Given the description of an element on the screen output the (x, y) to click on. 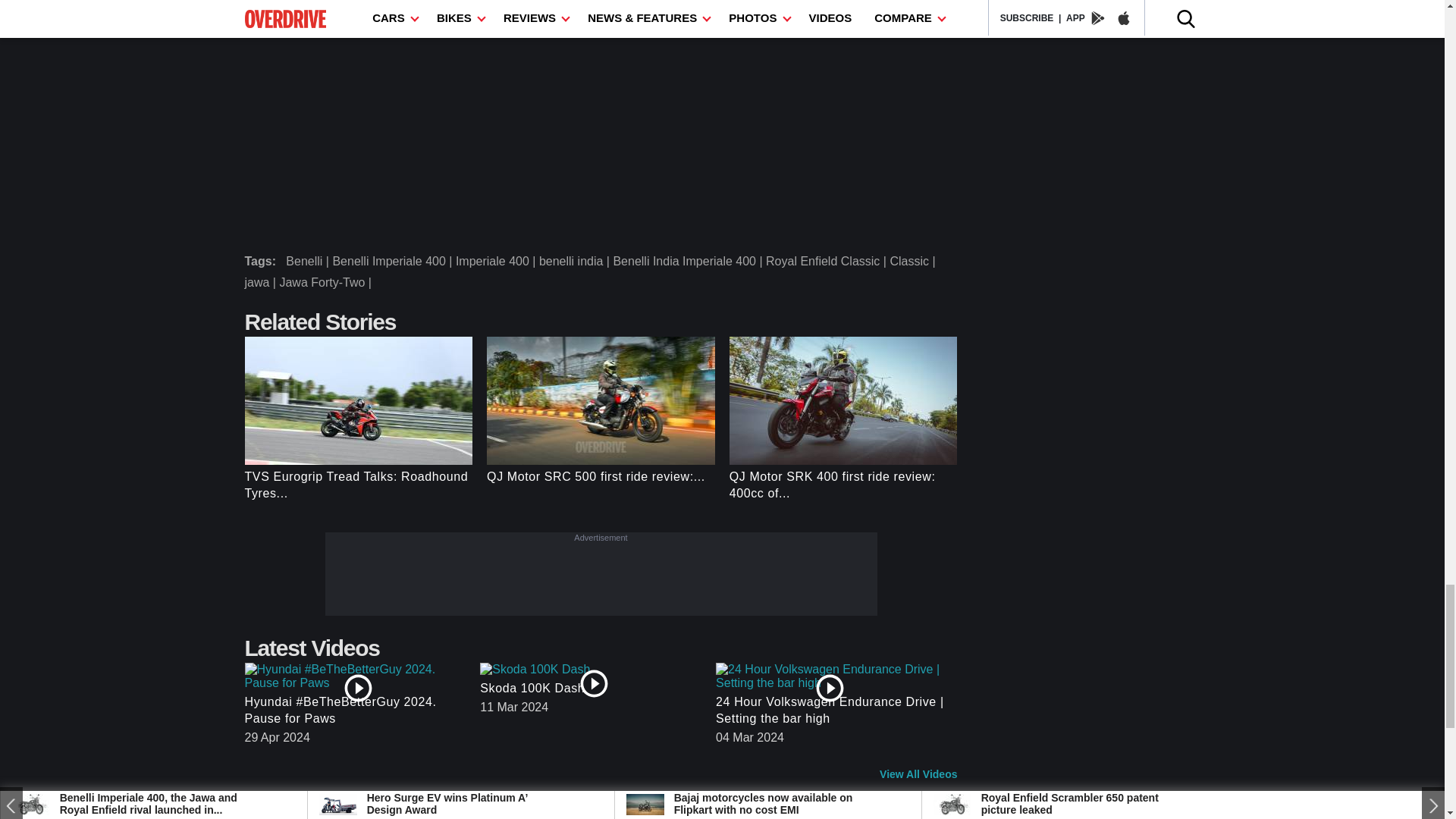
Royal Enfield Classic (827, 260)
TVS Eurogrip Tread Talks: Roadhound Tyres Track Test (357, 485)
Classic (914, 260)
Benelli Imperiale 400 (392, 260)
TVS Eurogrip Tread Talks: Roadhound Tyres Track Test (357, 400)
jawa (261, 282)
Jawa Forty-Two (326, 282)
benelli india (575, 260)
Benelli India Imperiale 400 (688, 260)
Imperiale 400 (496, 260)
Benelli (308, 260)
